Given the description of an element on the screen output the (x, y) to click on. 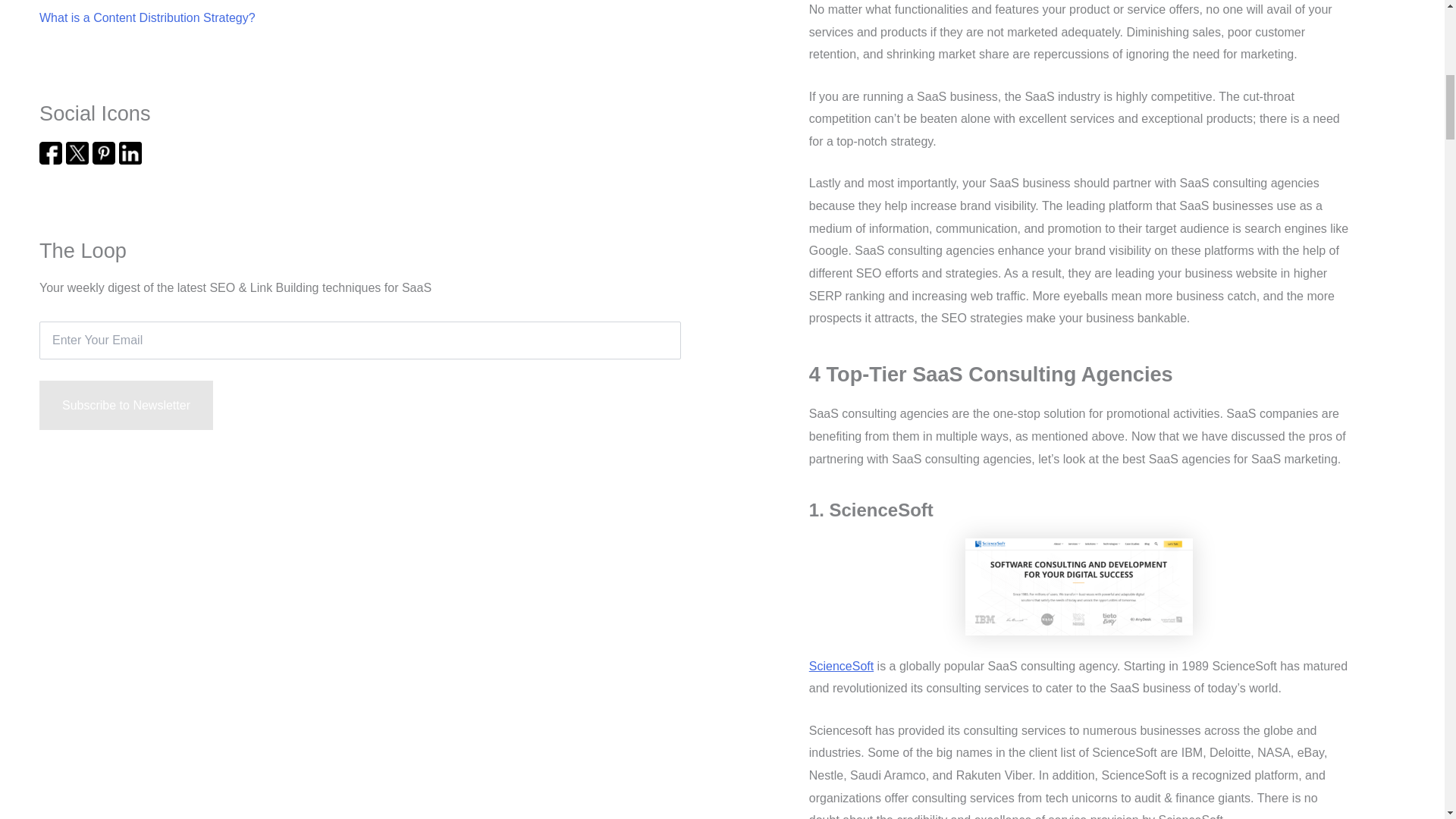
Subscribe to Newsletter (125, 405)
